Given the description of an element on the screen output the (x, y) to click on. 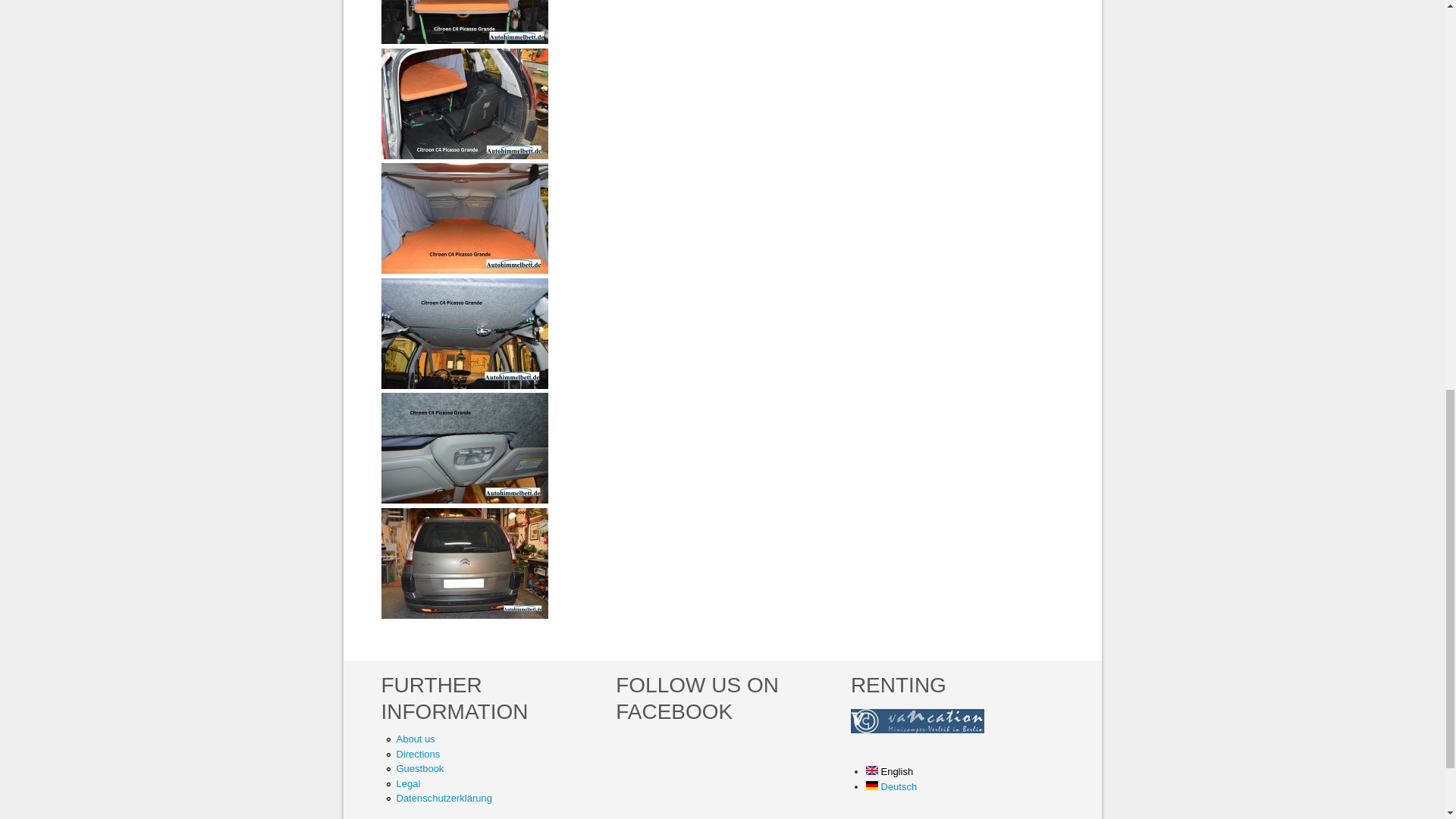
Autohimmelbett im Citroen C4 Picasso Grande (463, 563)
Citroen C4 Picasso heruntergeschwenktes Auto-Himmelbett (463, 155)
Citroen C4 Picasso hochgeschwenktes Auto-Himmelbett (463, 385)
Directions (417, 754)
Guestbook (420, 767)
Autohimmelbett im Citroen C4 Picasso Grande (463, 614)
About us (414, 738)
Citroen C4 Picasso heruntergeschwenktes Auto-Himmelbett (463, 103)
Citroen C4 Picasso hochgeschwenktes Auto-Himmelbett (463, 333)
